Given the description of an element on the screen output the (x, y) to click on. 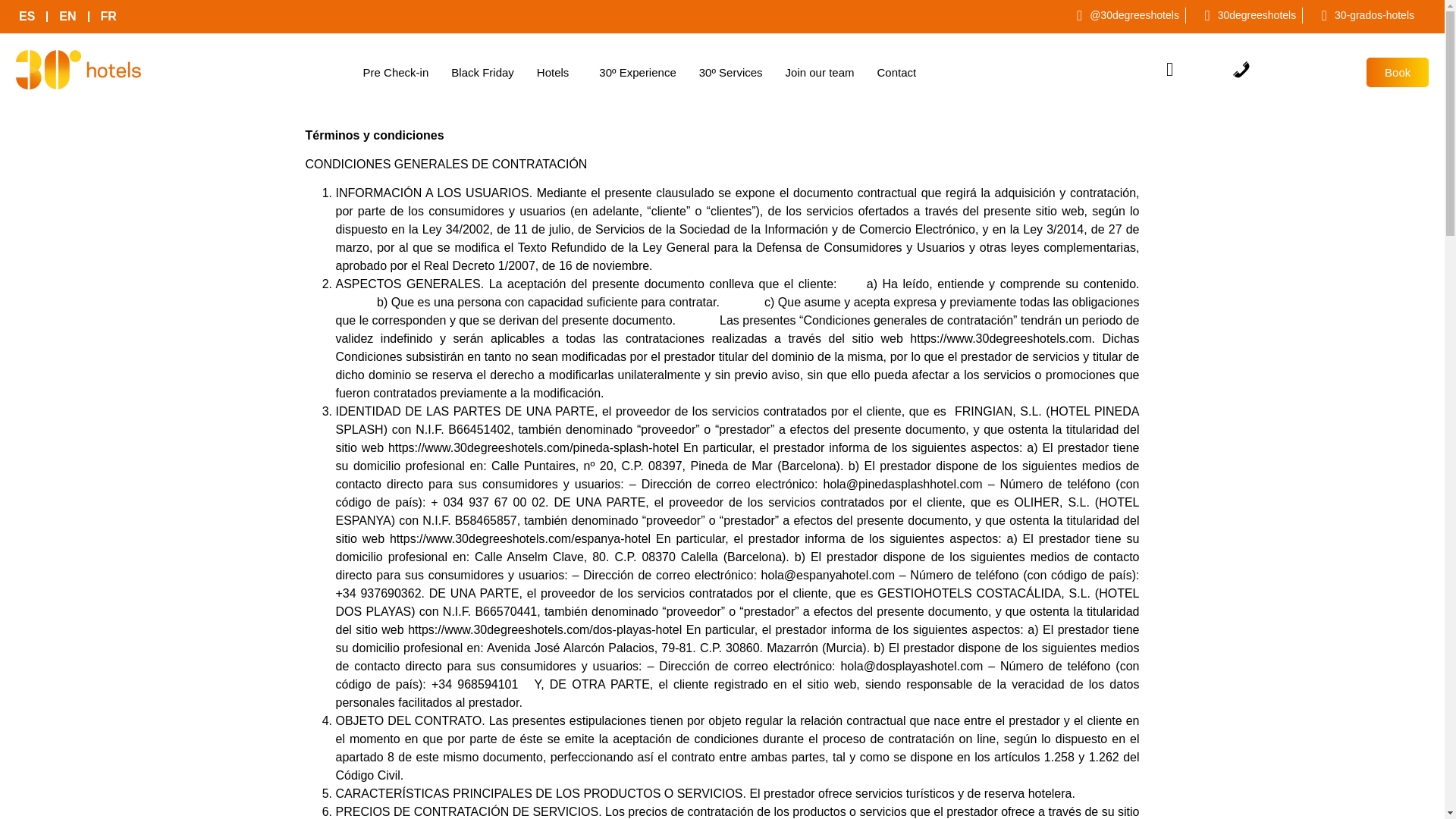
Pre Check-in Element type: text (395, 72)
30degreeshotels Element type: text (1243, 15)
EN Element type: text (67, 16)
30-grados-hotels Element type: text (1361, 15)
@30degreeshotels Element type: text (1121, 15)
Book Element type: text (1397, 72)
FR Element type: text (108, 16)
ES Element type: text (26, 16)
Join our team Element type: text (820, 72)
Hotels Element type: text (556, 72)
Black Friday Element type: text (482, 72)
Contact Element type: text (896, 72)
